Given the description of an element on the screen output the (x, y) to click on. 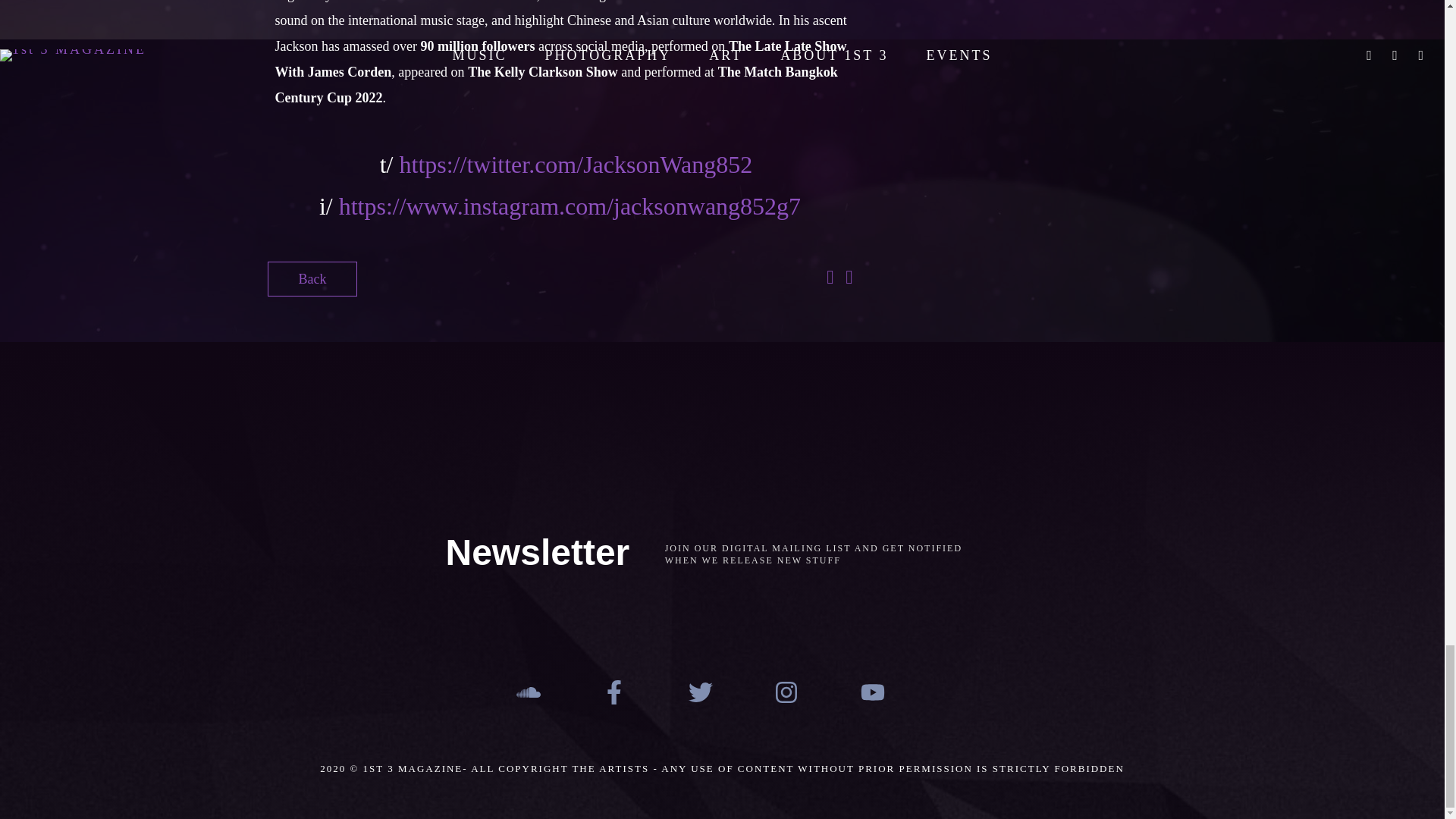
Share on Facebook (830, 278)
Share on Twitter (849, 278)
